Given the description of an element on the screen output the (x, y) to click on. 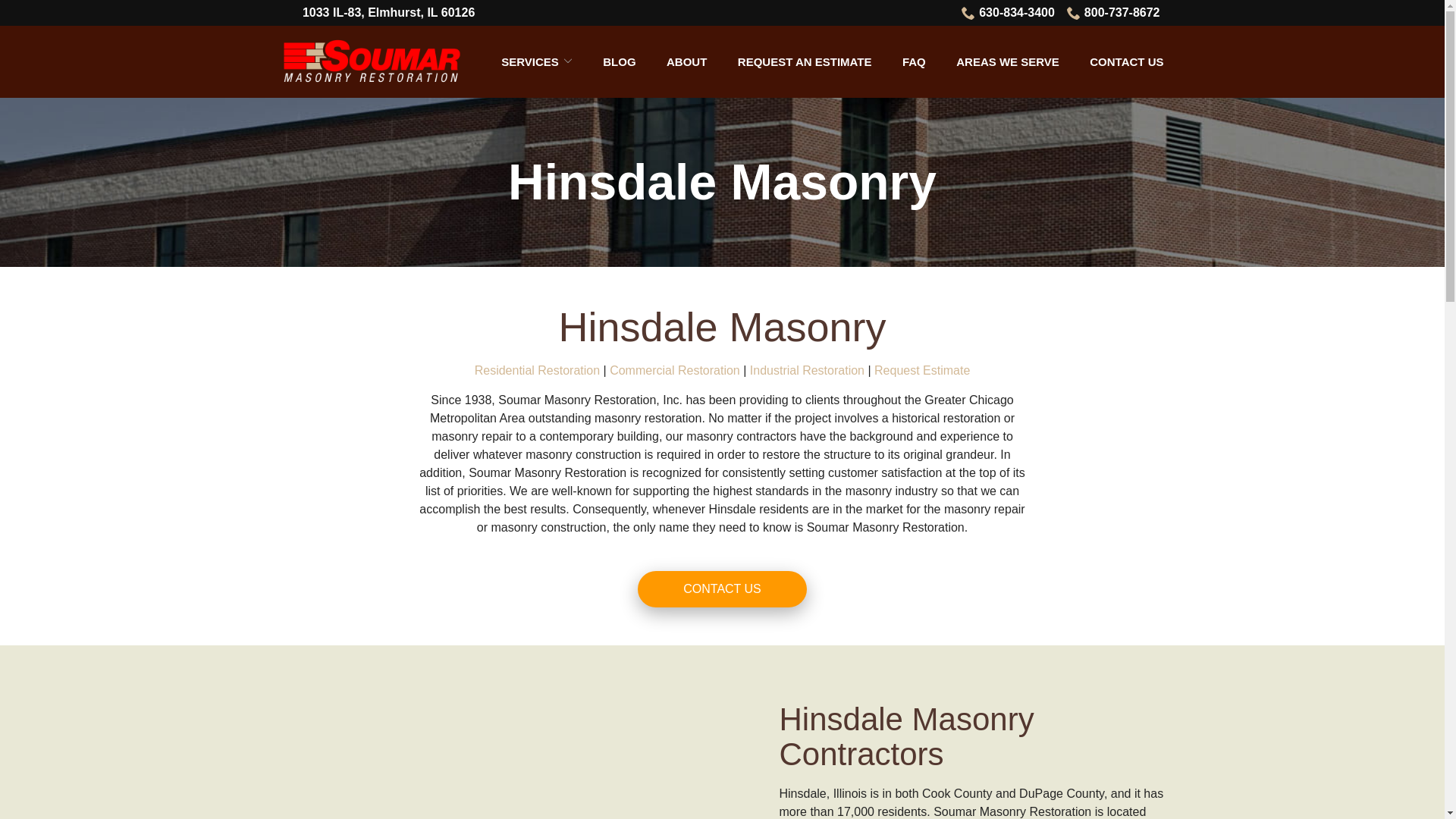
ABOUT (686, 60)
CONTACT US (1126, 60)
BLOG (618, 60)
SERVICES (536, 60)
1033 IL-83, Elmhurst, IL 60126 (388, 13)
800-737-8672 (1113, 13)
AREAS WE SERVE (1007, 60)
630-834-3400 (1007, 13)
REQUEST AN ESTIMATE (805, 60)
FAQ (914, 60)
